Given the description of an element on the screen output the (x, y) to click on. 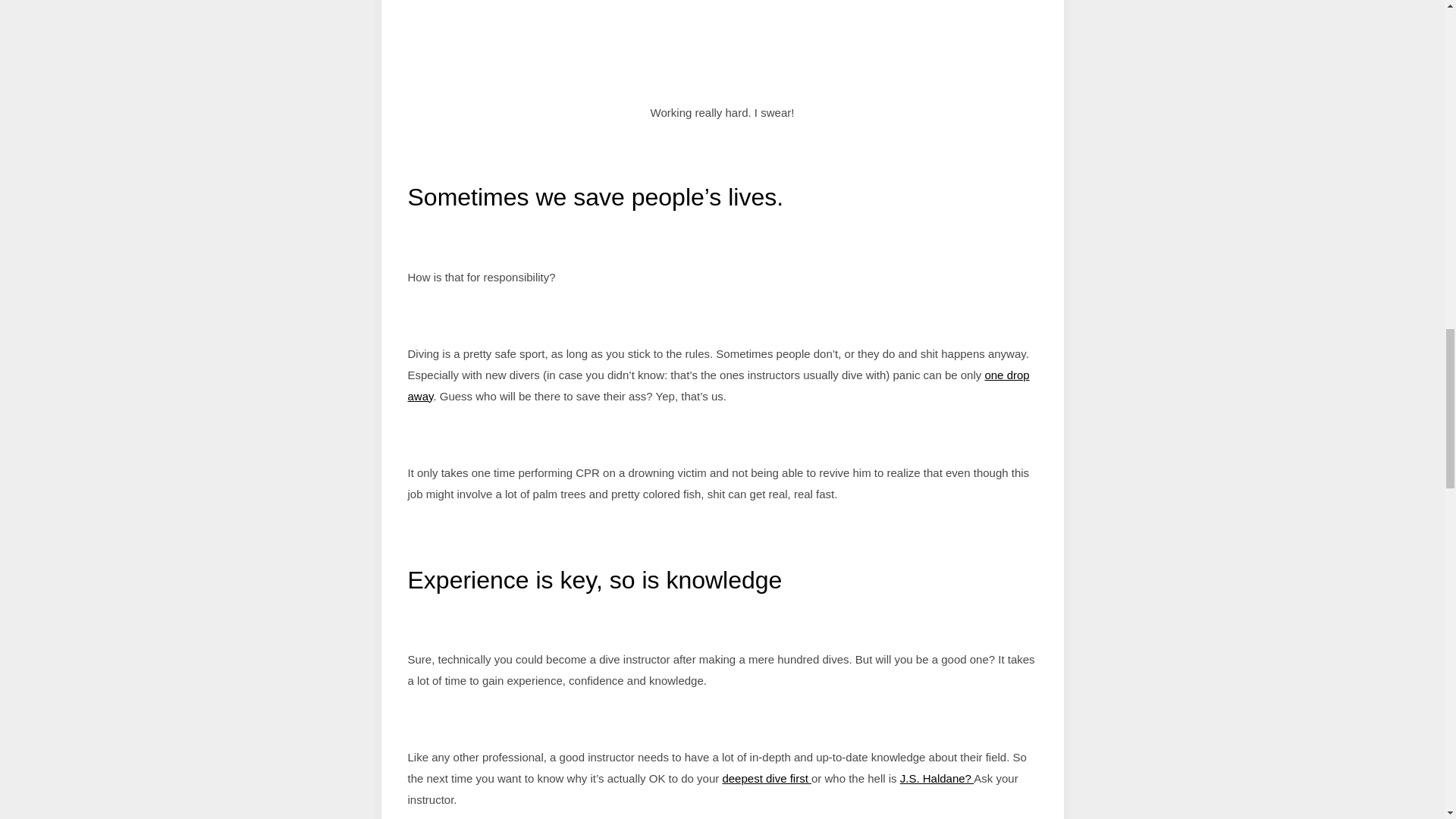
deepest dive first (766, 778)
one drop away (718, 385)
Deepest Dive First? Not Anymore! (766, 778)
J.S. Haldane? (936, 778)
Panic in the experienced diver (718, 385)
J.S. Haldane (936, 778)
